Given the description of an element on the screen output the (x, y) to click on. 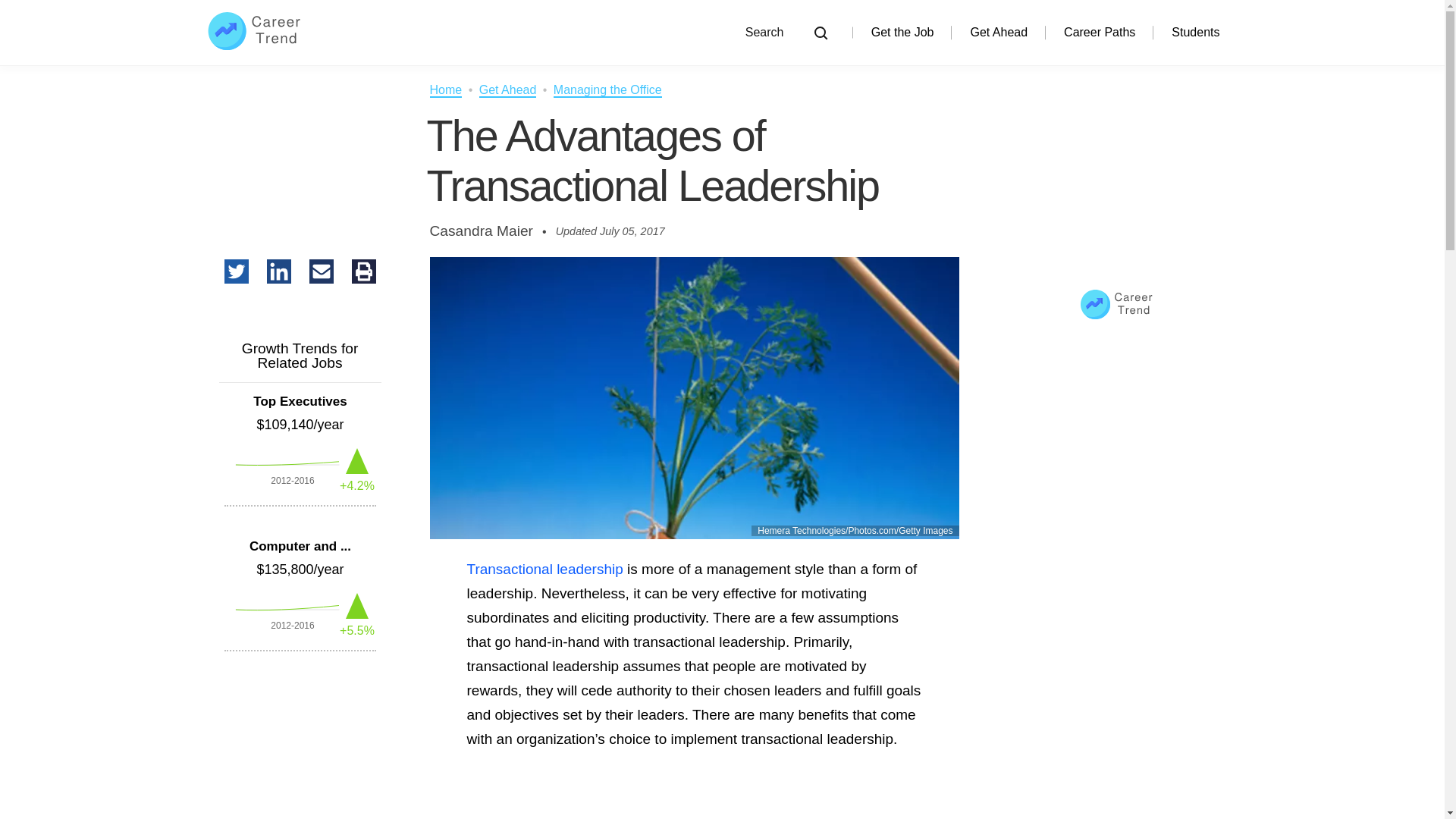
Career Paths (1099, 31)
Get the Job (902, 31)
Students (1196, 31)
Get Ahead (998, 31)
Advertisement (693, 809)
